Given the description of an element on the screen output the (x, y) to click on. 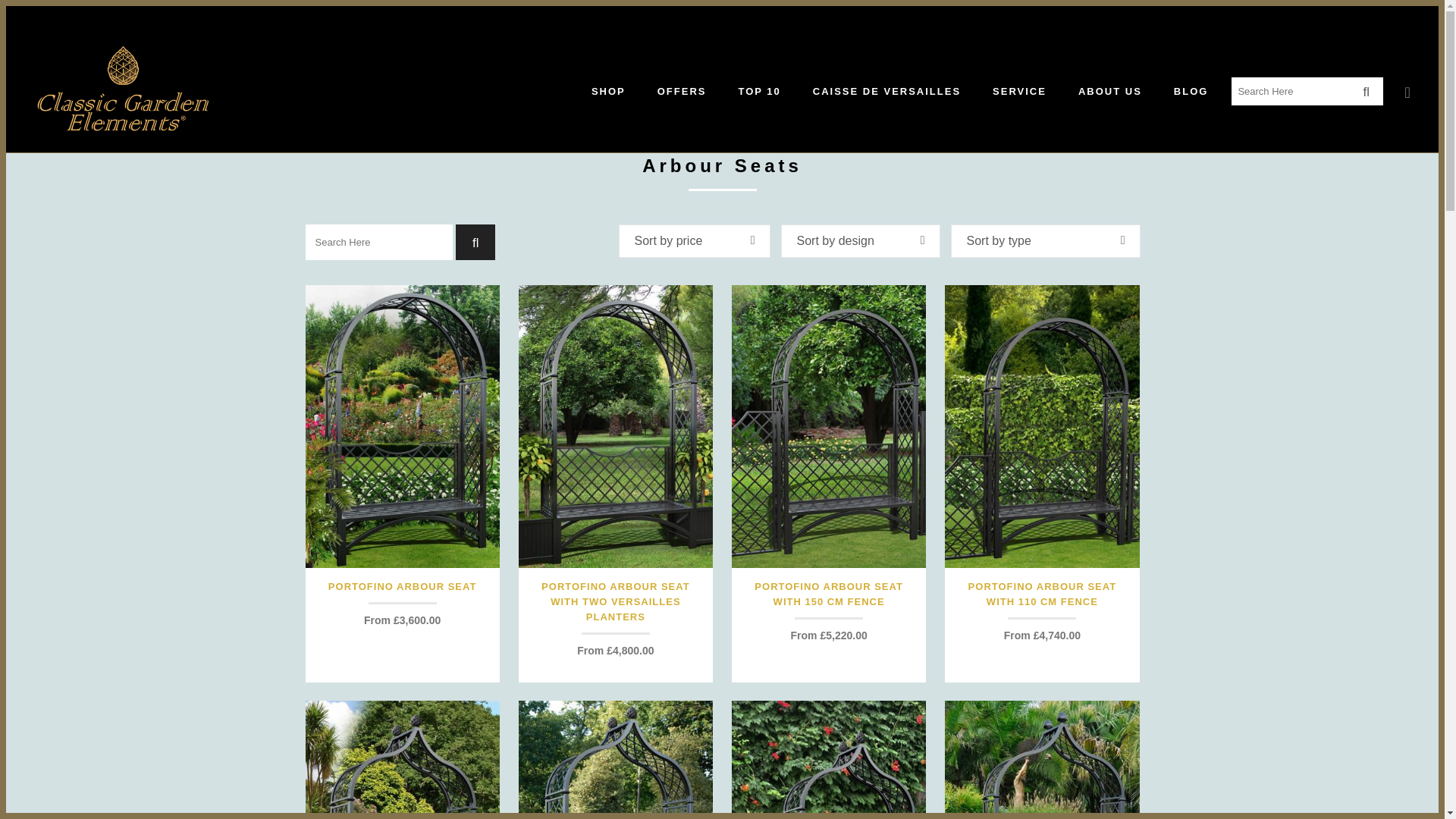
Service (1019, 91)
SERVICE (1019, 91)
Offers (682, 91)
CAISSE DE VERSAILLES (886, 91)
Garden Shop Classic Garden Elements (608, 91)
TOP 10 (759, 91)
SHOP (608, 91)
ABOUT US (1109, 91)
OFFERS (682, 91)
